Given the description of an element on the screen output the (x, y) to click on. 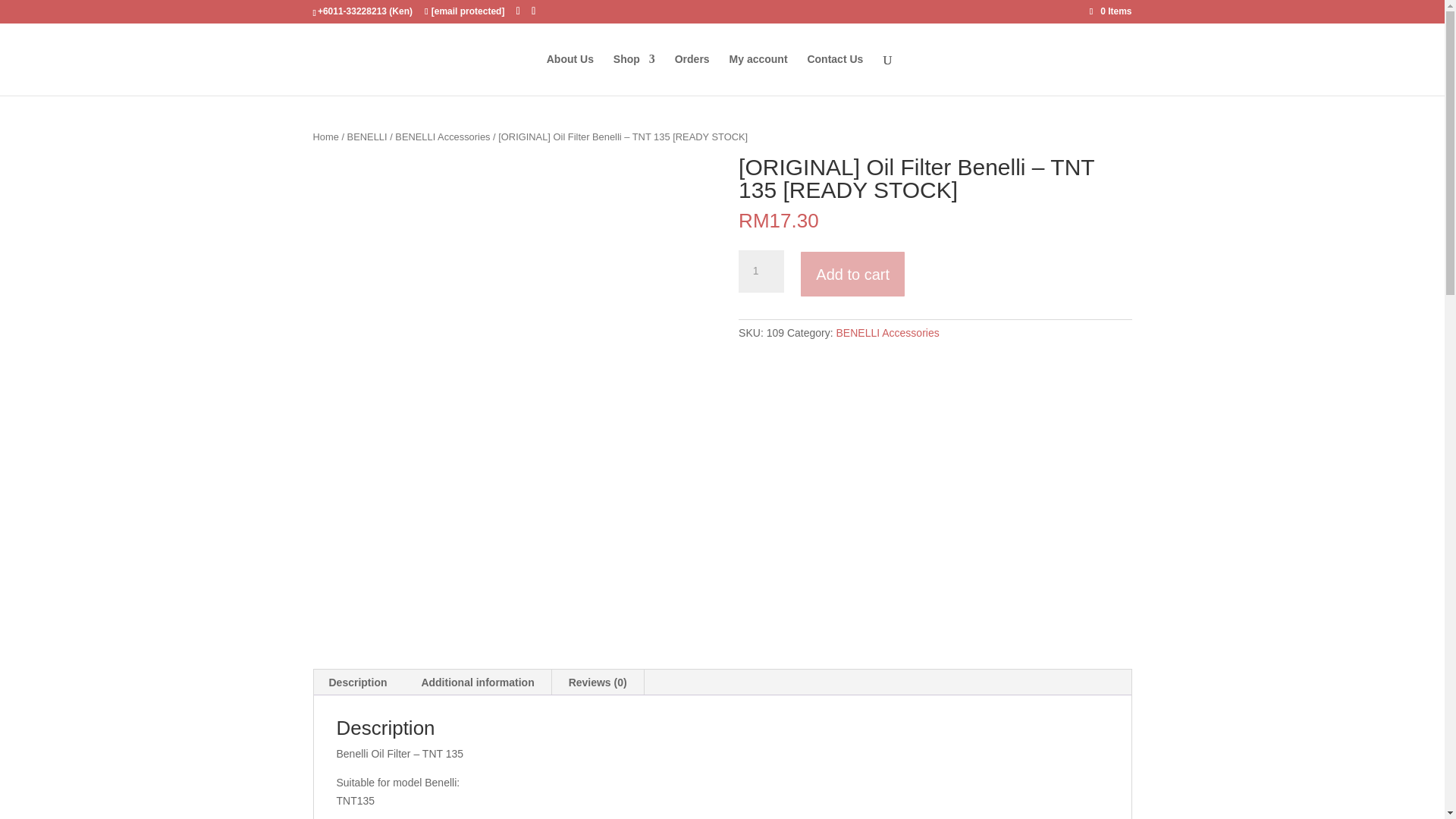
About Us (570, 74)
BENELLI (367, 136)
1 (761, 271)
Home (325, 136)
Contact Us (834, 74)
Shop (633, 74)
My account (758, 74)
0 Items (1110, 10)
